Given the description of an element on the screen output the (x, y) to click on. 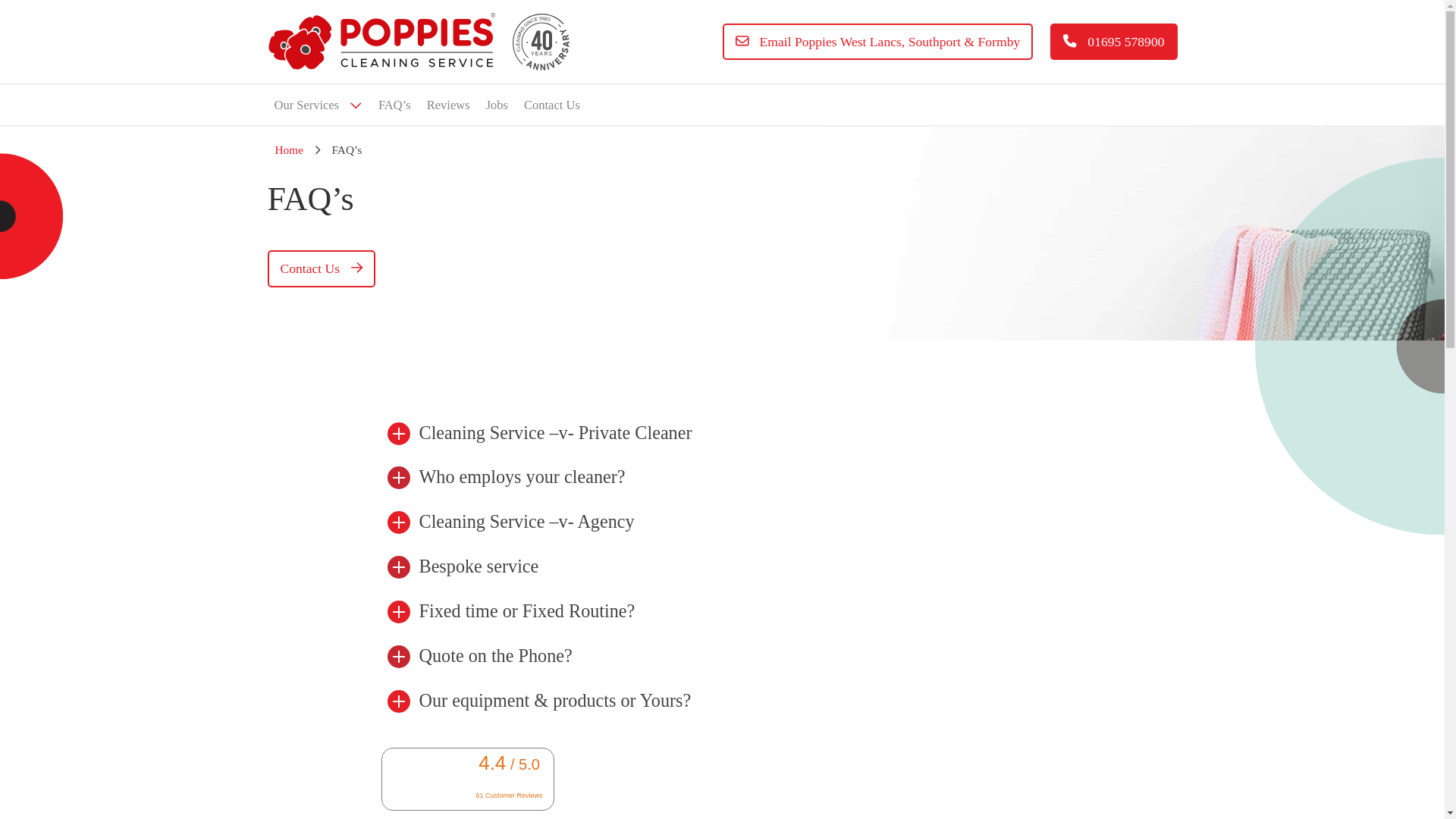
61 Customer Reviews (509, 795)
01695 578900 (1112, 41)
Contact Us (551, 105)
Our Services (317, 105)
Home (288, 149)
Jobs (497, 105)
Reviews (448, 105)
Contact Us (320, 268)
